Given the description of an element on the screen output the (x, y) to click on. 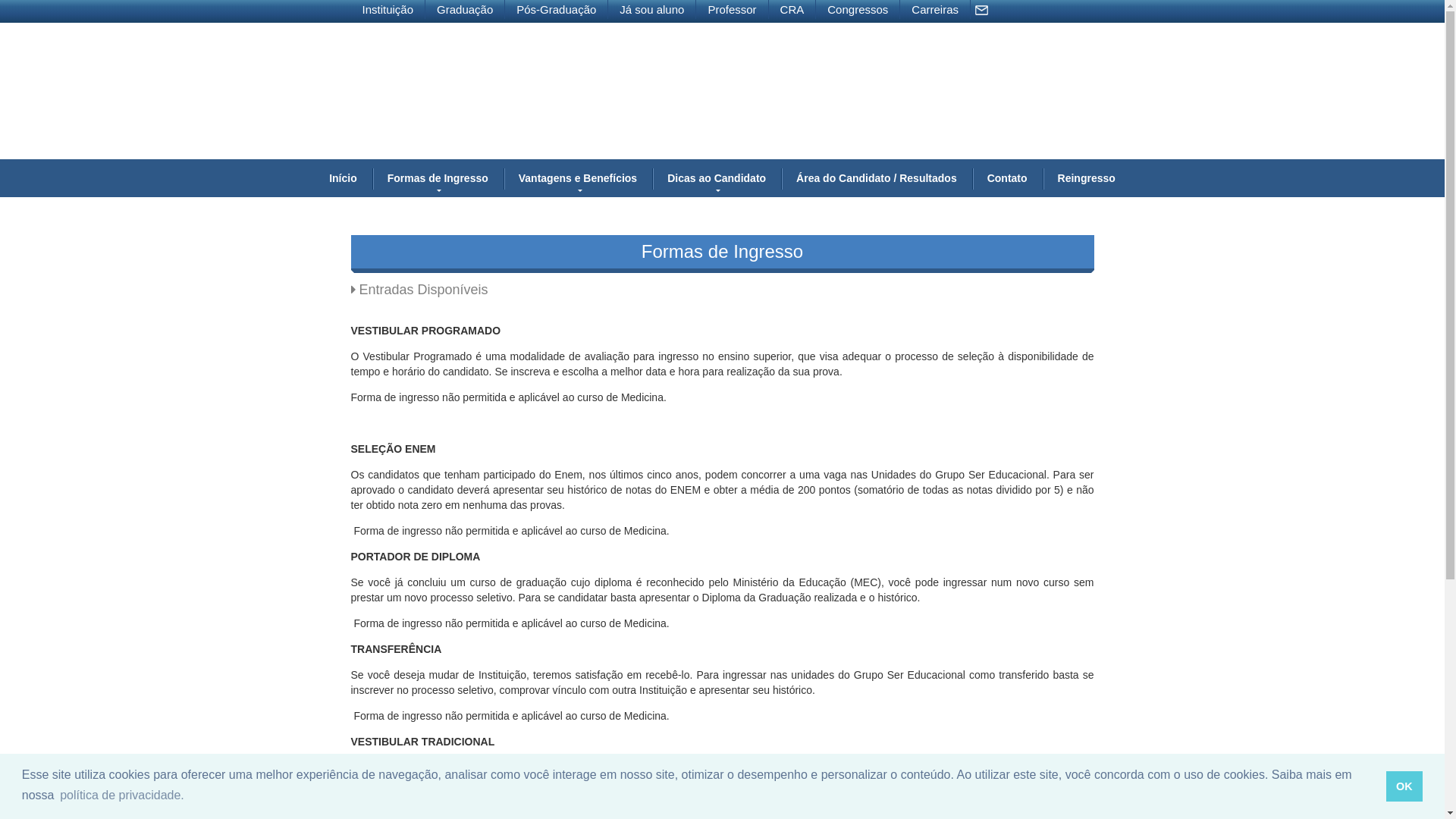
Congressos Element type: text (857, 9)
OK Element type: text (1404, 786)
Formas de Ingresso Element type: text (437, 178)
Carreiras Element type: text (935, 9)
Dicas ao Candidato Element type: text (716, 178)
Reingresso Element type: text (1086, 178)
Contato Element type: text (1007, 178)
Professor Element type: text (732, 9)
CRA Element type: text (792, 9)
